Given the description of an element on the screen output the (x, y) to click on. 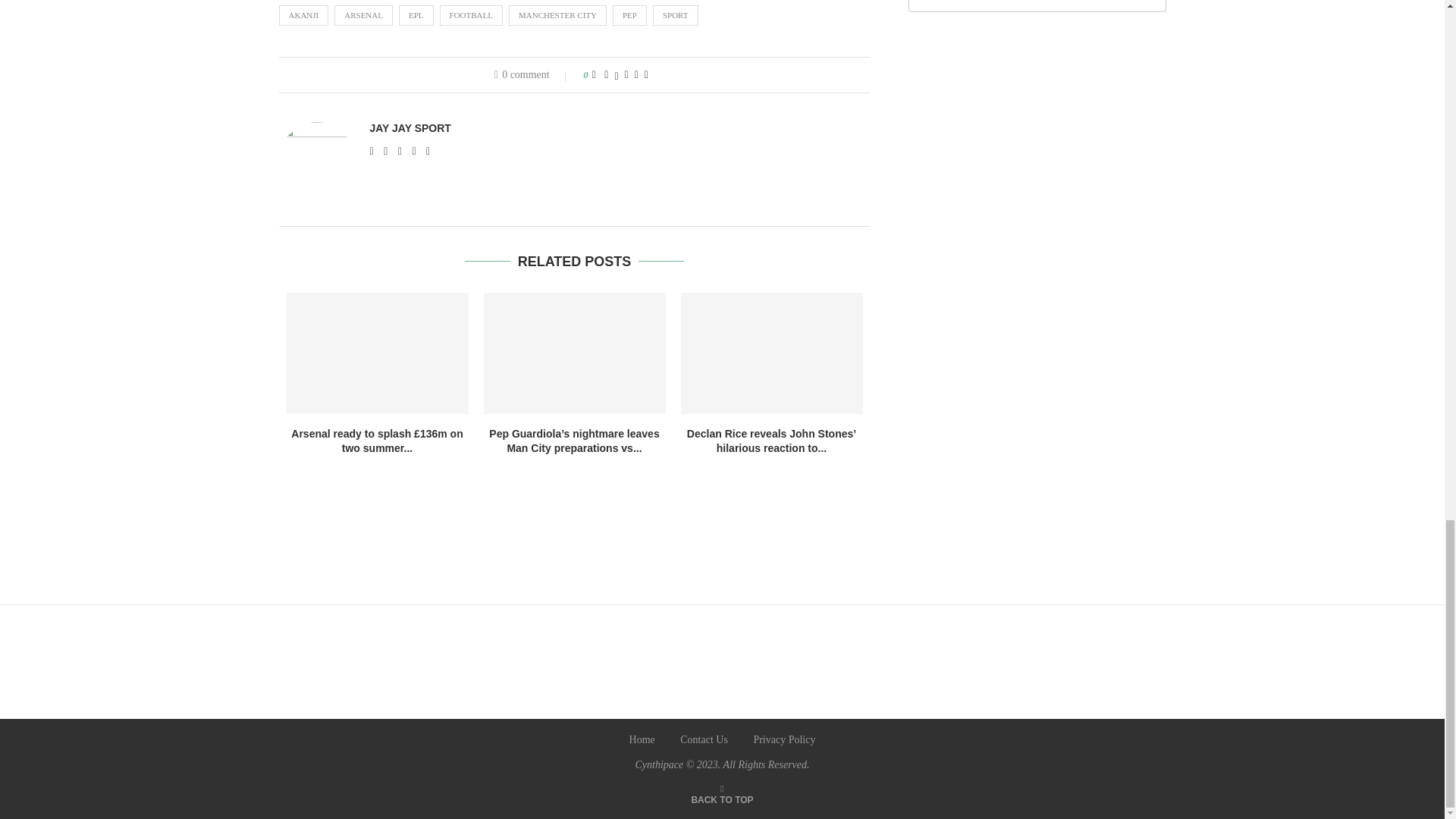
SPORT (675, 14)
EPL (415, 14)
FOOTBALL (470, 14)
Author Jay Jay Sport (410, 128)
AKANJI (304, 14)
MANCHESTER CITY (557, 14)
JAY JAY SPORT (410, 128)
PEP (629, 14)
ARSENAL (363, 14)
